Given the description of an element on the screen output the (x, y) to click on. 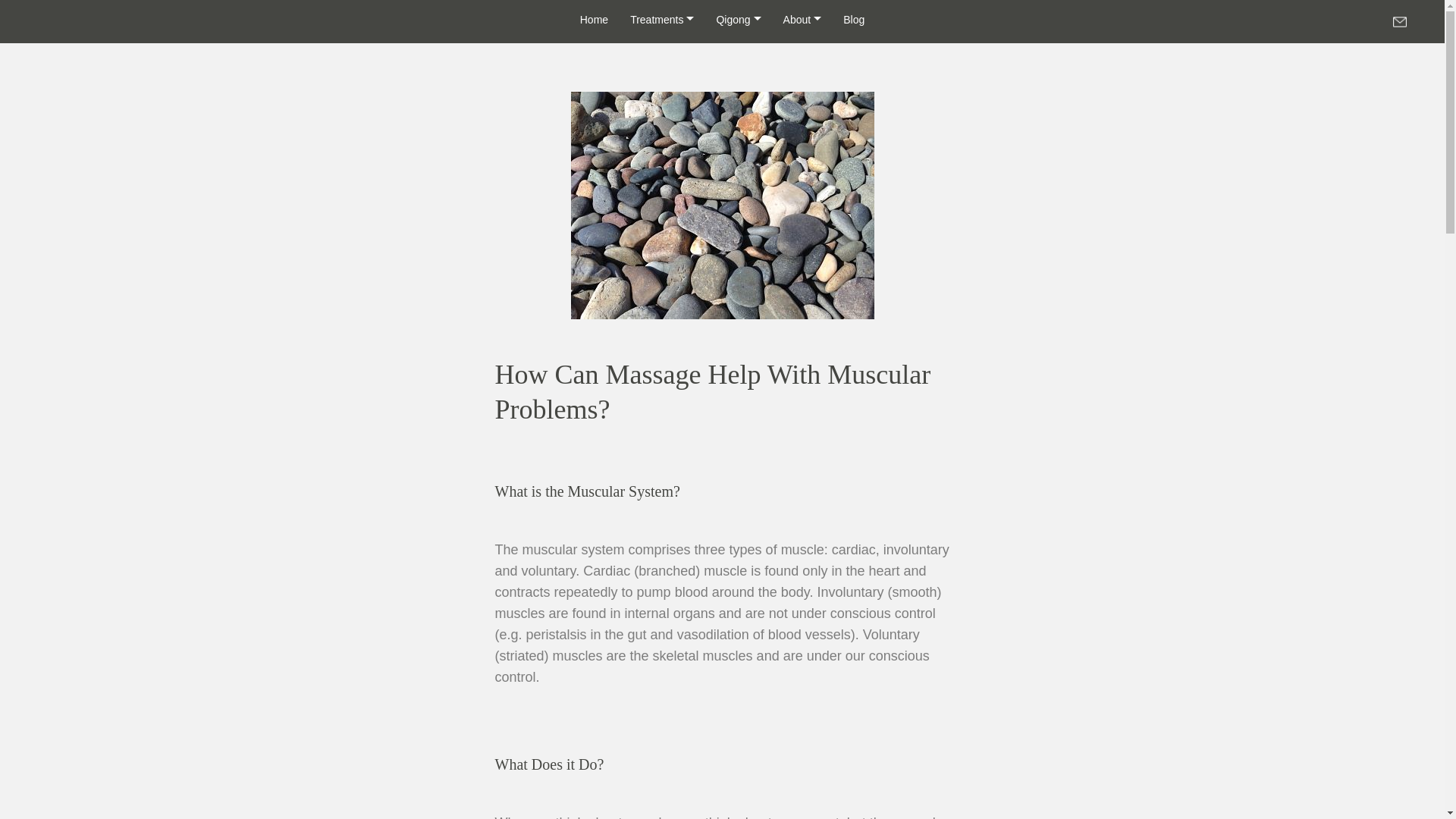
Blog (853, 19)
Home (593, 19)
